Given the description of an element on the screen output the (x, y) to click on. 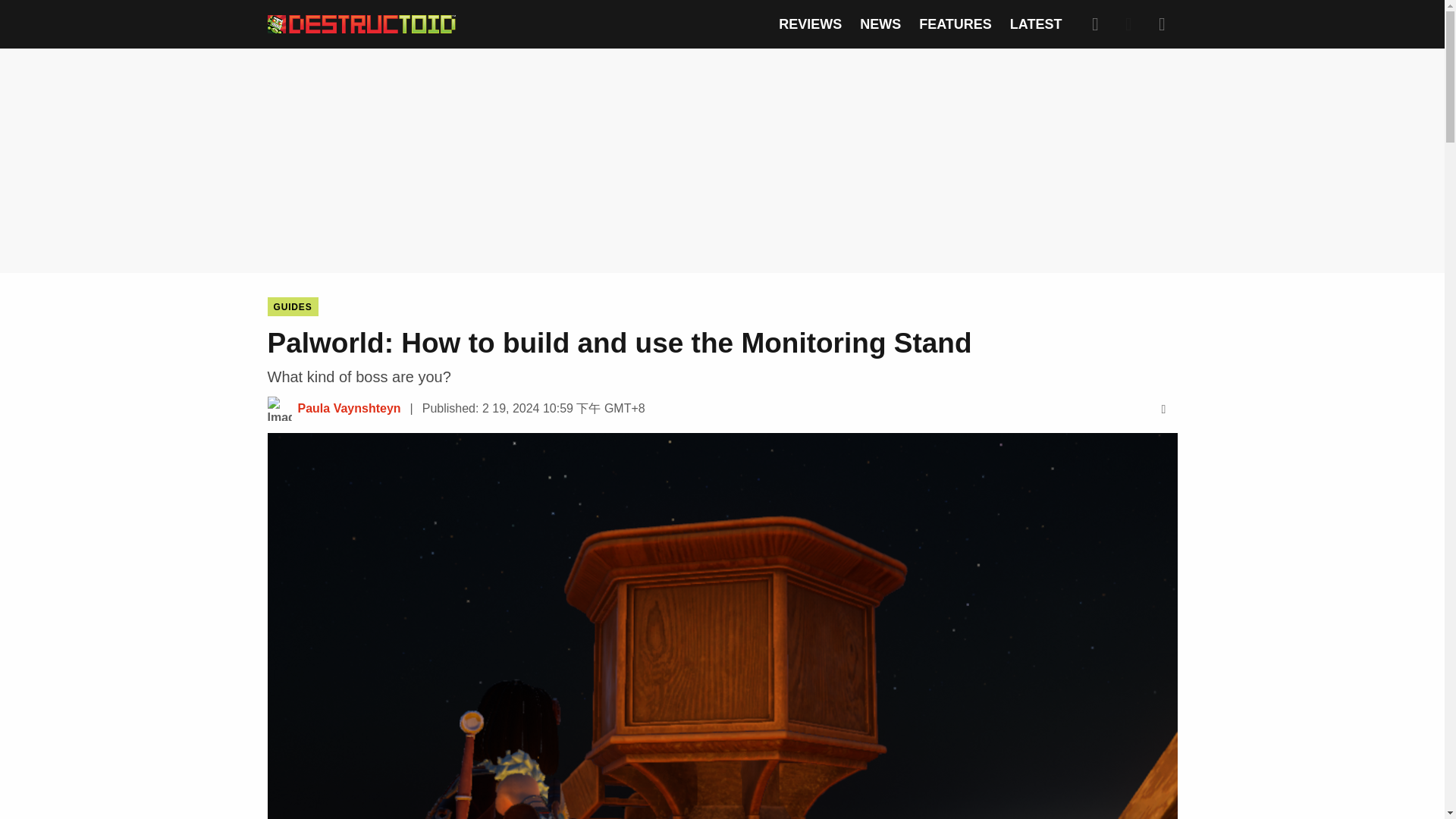
GUIDES (291, 306)
FEATURES (954, 23)
NEWS (880, 23)
Expand Menu (1161, 24)
REVIEWS (809, 23)
Search (1094, 24)
Dark Mode (1127, 24)
LATEST (1036, 23)
